Given the description of an element on the screen output the (x, y) to click on. 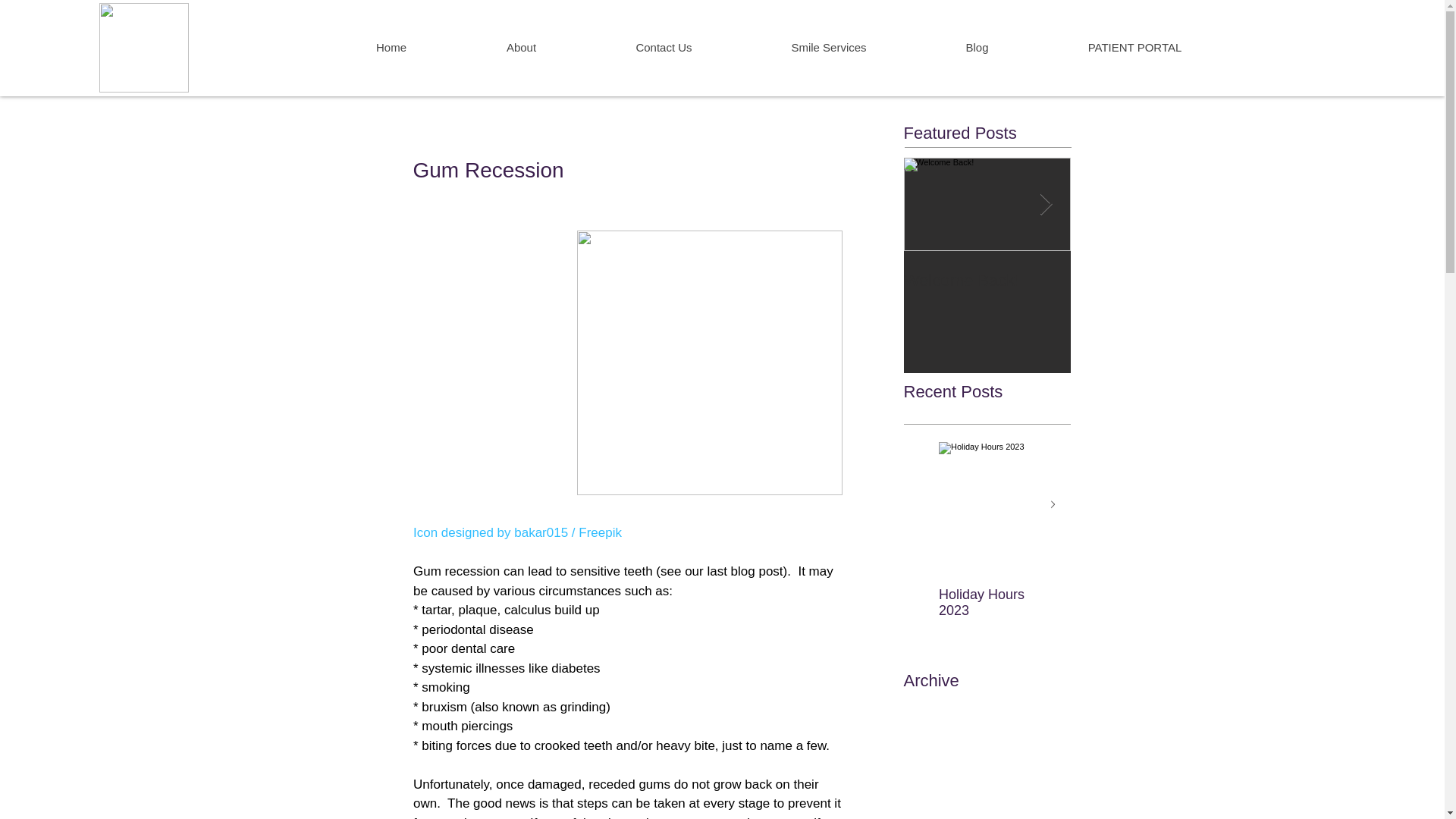
Contact Us (663, 47)
Blog (976, 47)
About (521, 47)
PATIENT PORTAL (1133, 47)
Welcome Back! (987, 280)
Holiday Hours 2023 (987, 603)
Happy Holidays from ALFIE Smiling Team (1083, 610)
Smile Services (828, 47)
TeleDentistry Services (1153, 280)
Home (390, 47)
